Given the description of an element on the screen output the (x, y) to click on. 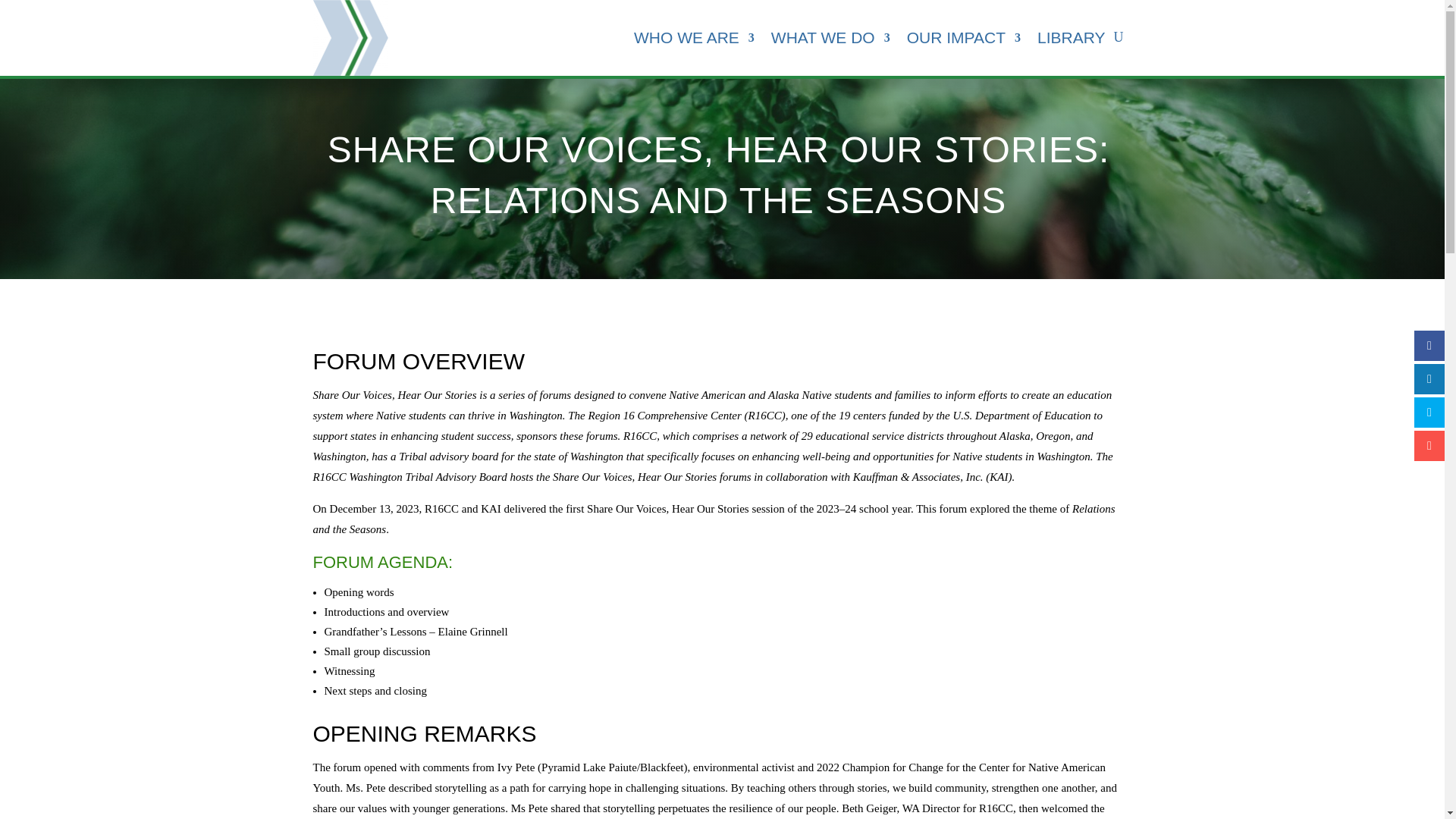
OUR IMPACT (963, 38)
LIBRARY (1070, 38)
WHAT WE DO (830, 38)
WHO WE ARE (693, 38)
